Given the description of an element on the screen output the (x, y) to click on. 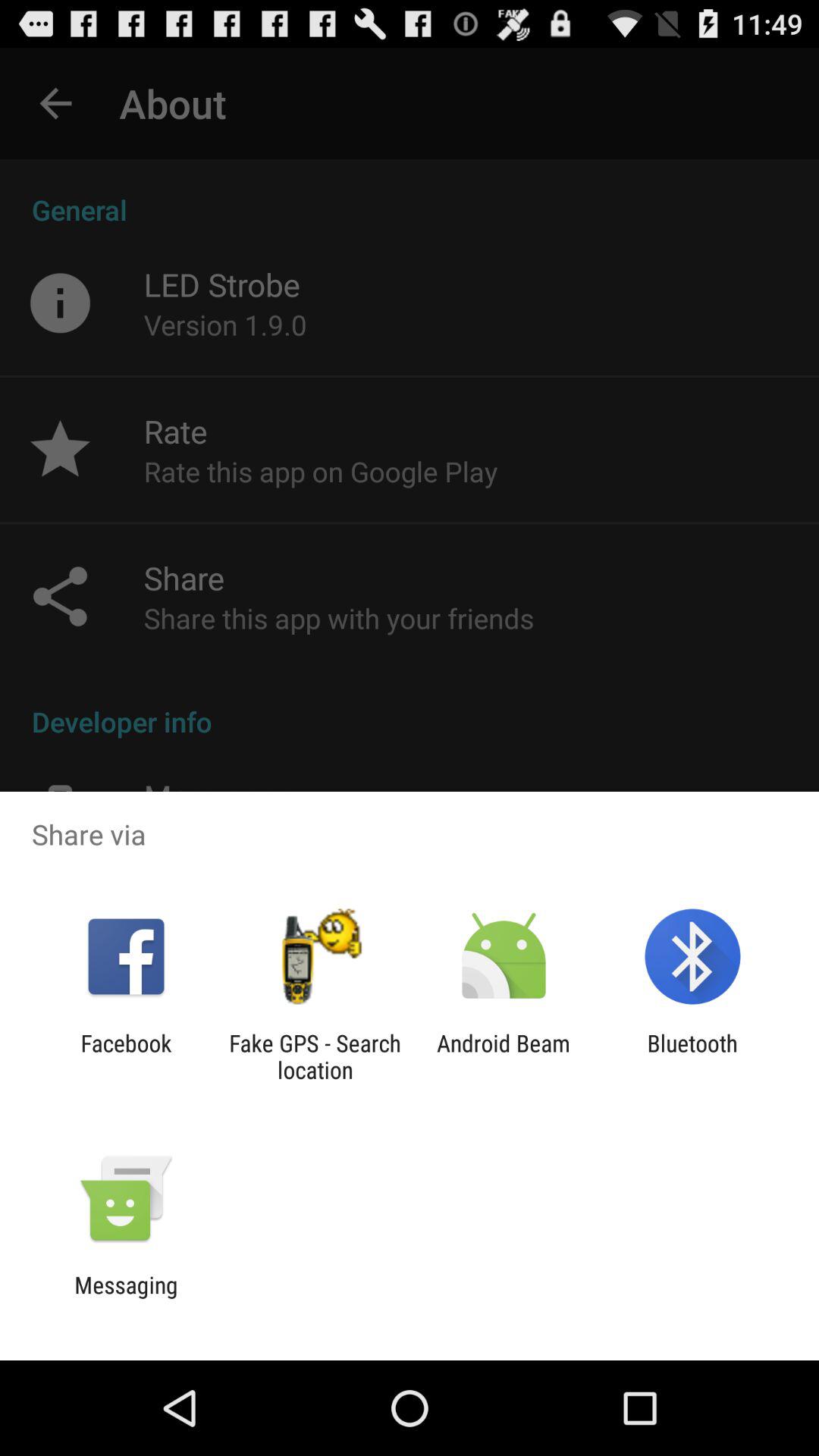
select the app to the left of the android beam app (314, 1056)
